Given the description of an element on the screen output the (x, y) to click on. 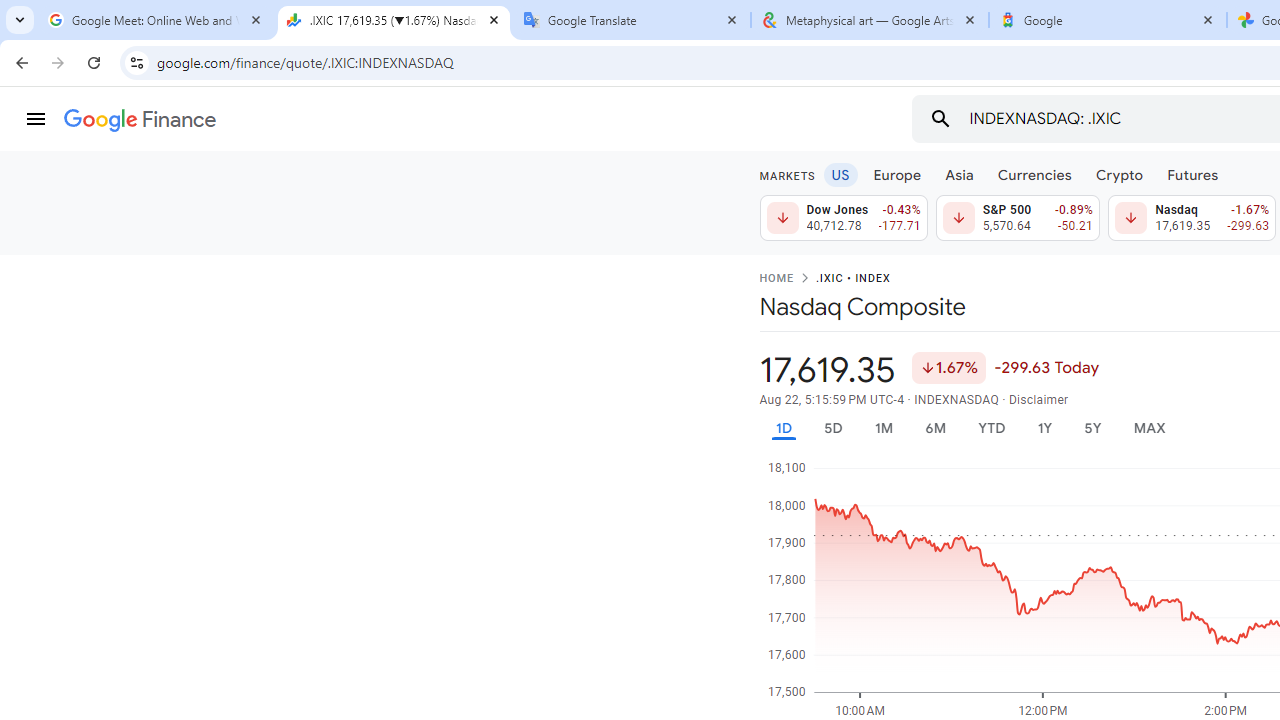
MAX (1149, 427)
YTD (991, 427)
Main menu (35, 119)
HOME (776, 279)
6M (934, 427)
1D (783, 427)
Asia (958, 174)
5D (832, 427)
Europe (897, 174)
Futures (1192, 174)
1Y (1044, 427)
